Given the description of an element on the screen output the (x, y) to click on. 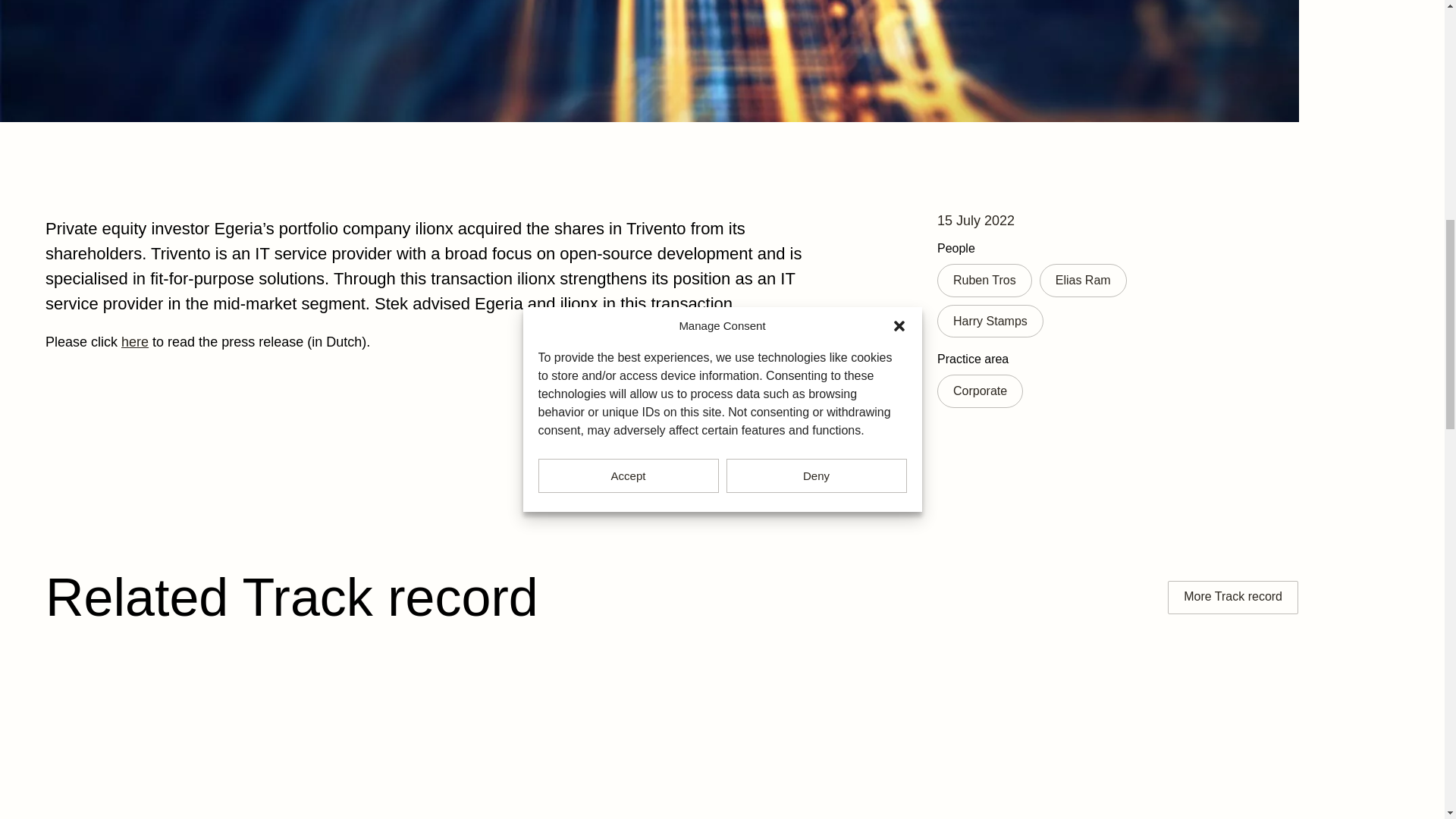
Harry Stamps (990, 321)
More Track record (1232, 597)
here (134, 341)
Elias Ram (1082, 280)
Corporate (980, 390)
Ruben Tros (984, 280)
